Given the description of an element on the screen output the (x, y) to click on. 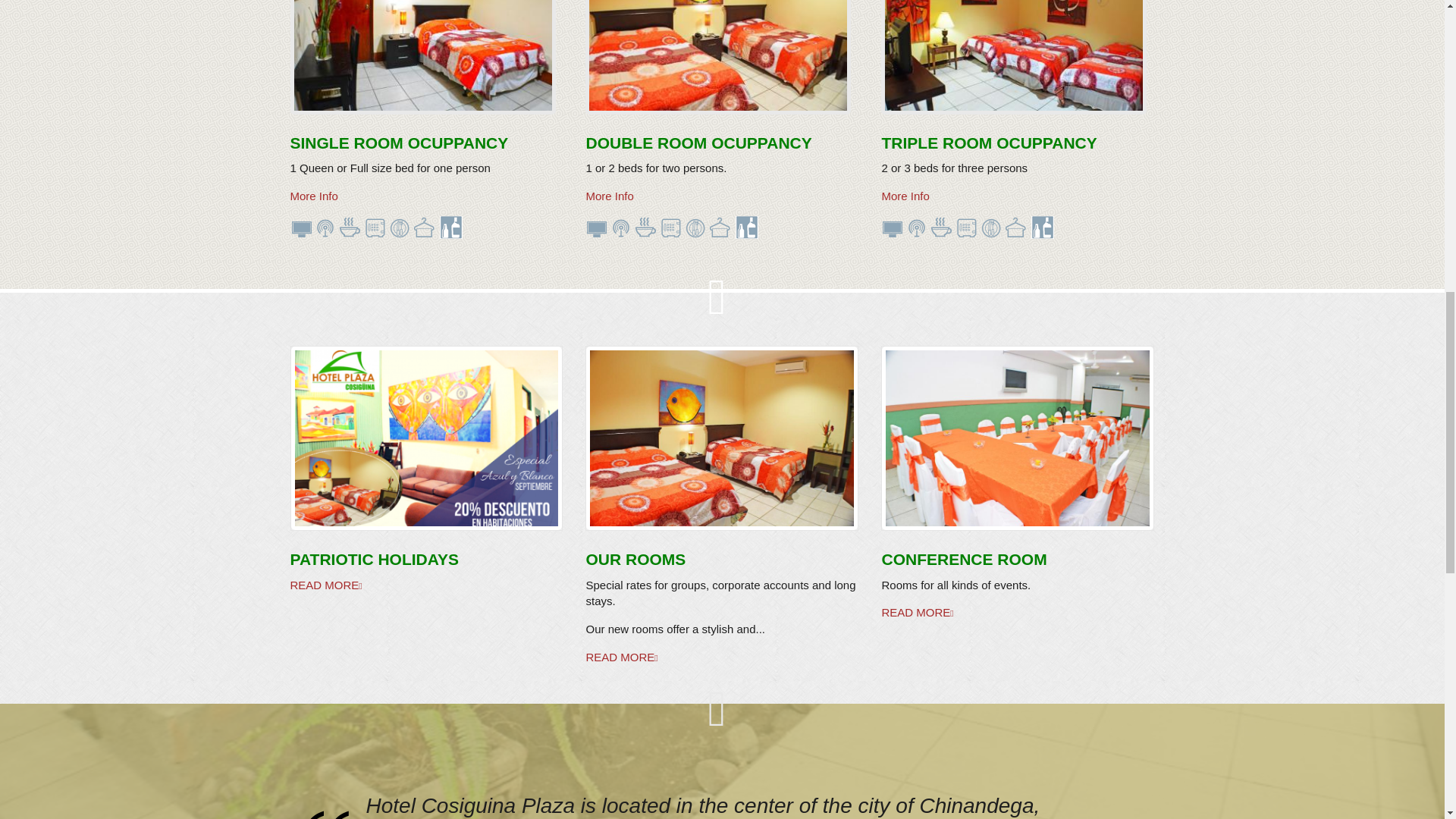
READ MORE (722, 657)
CONFERENCE ROOM (963, 559)
More Info (904, 195)
OUR ROOMS (635, 559)
More Info (313, 195)
PATRIOTIC HOLIDAYS (373, 559)
Patriotic Holidays (426, 437)
READ MORE (425, 584)
More Info (609, 195)
READ MORE (1017, 612)
